Given the description of an element on the screen output the (x, y) to click on. 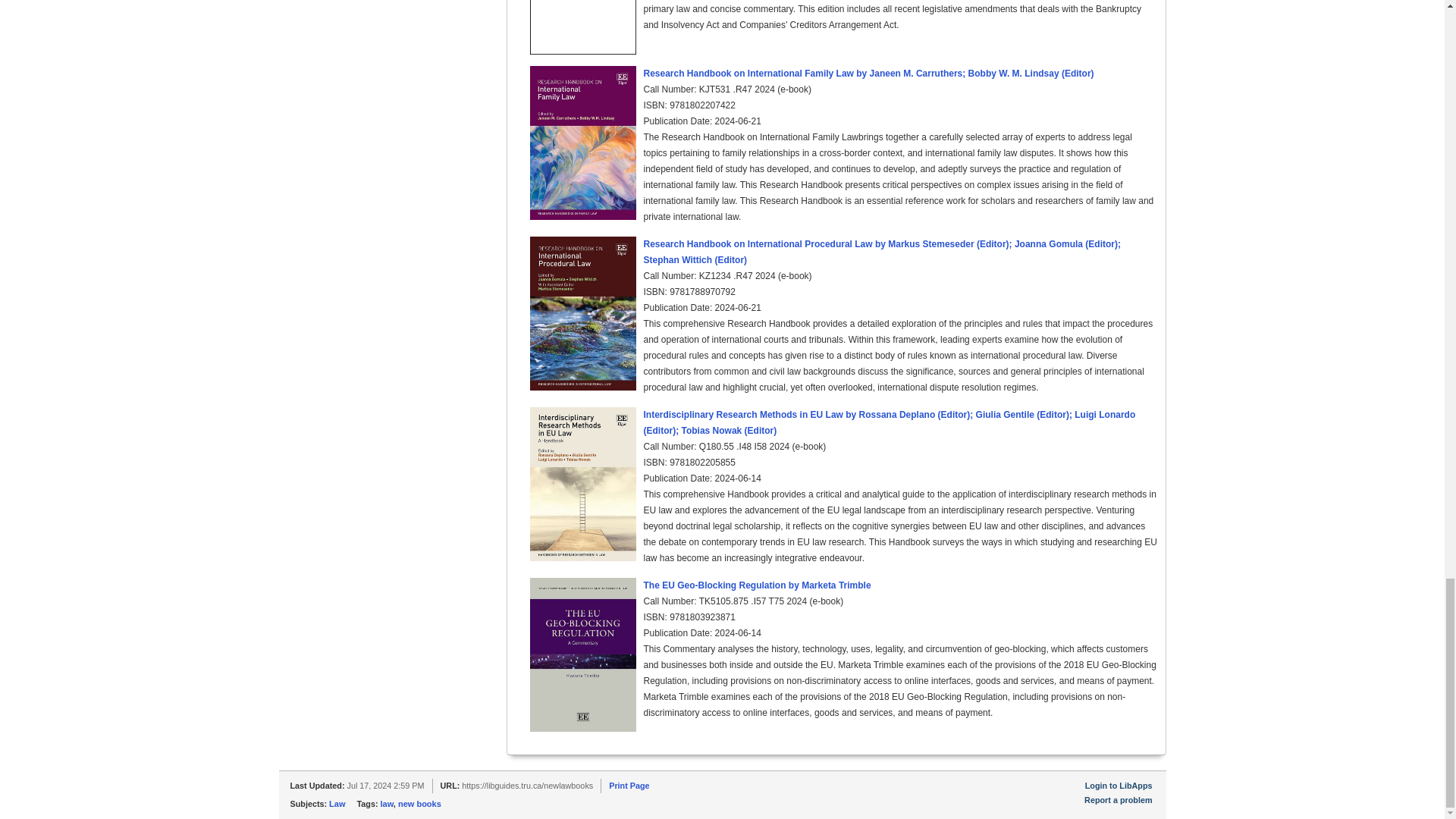
The EU Geo-Blocking Regulation by Marketa Trimble (756, 584)
Print Page (628, 785)
Login to LibApps (1118, 785)
